Given the description of an element on the screen output the (x, y) to click on. 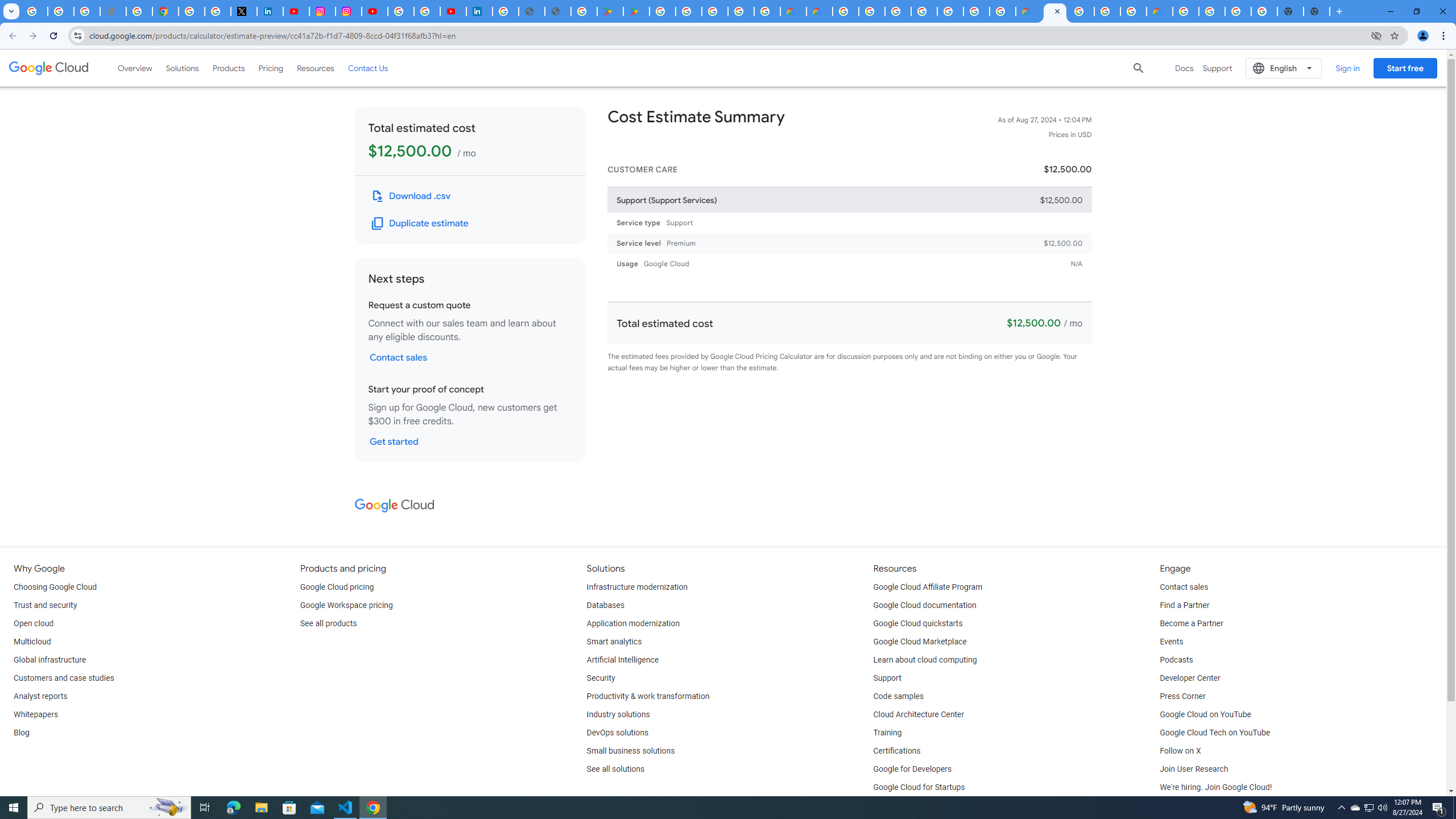
Learn about cloud computing (924, 660)
Sign in - Google Accounts (400, 11)
Download .csv file (412, 196)
Google Cloud quickstarts (917, 624)
See all products (327, 624)
Google Cloud (393, 505)
Identity verification via Persona | LinkedIn Help (479, 11)
Artificial Intelligence (622, 660)
Developer Center (1189, 678)
Search (1139, 67)
Global infrastructure (49, 660)
